Given the description of an element on the screen output the (x, y) to click on. 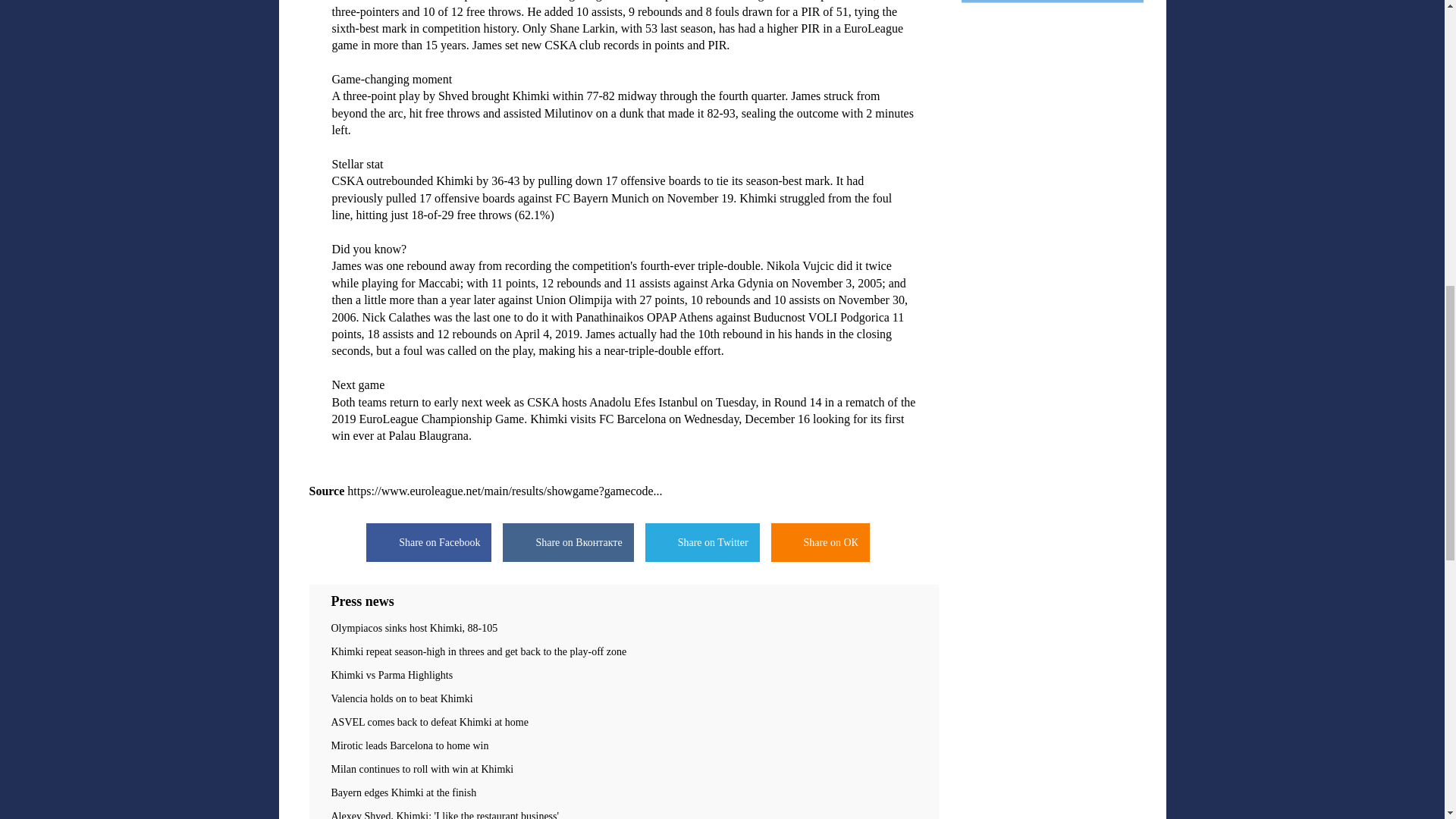
Share on Twitter (702, 542)
Valencia holds on to beat Khimki (622, 698)
ASVEL comes back to defeat Khimki at home (622, 722)
Mirotic leads Barcelona to home win (622, 746)
Milan continues to roll with win at Khimki (622, 769)
Olympiacos sinks host Khimki, 88-105 (622, 628)
Share on Facebook (429, 542)
Bayern edges Khimki at the finish (622, 793)
Khimki vs Parma Highlights (622, 675)
Alexey Shved, Khimki: 'I like the restaurant business' (622, 814)
